Given the description of an element on the screen output the (x, y) to click on. 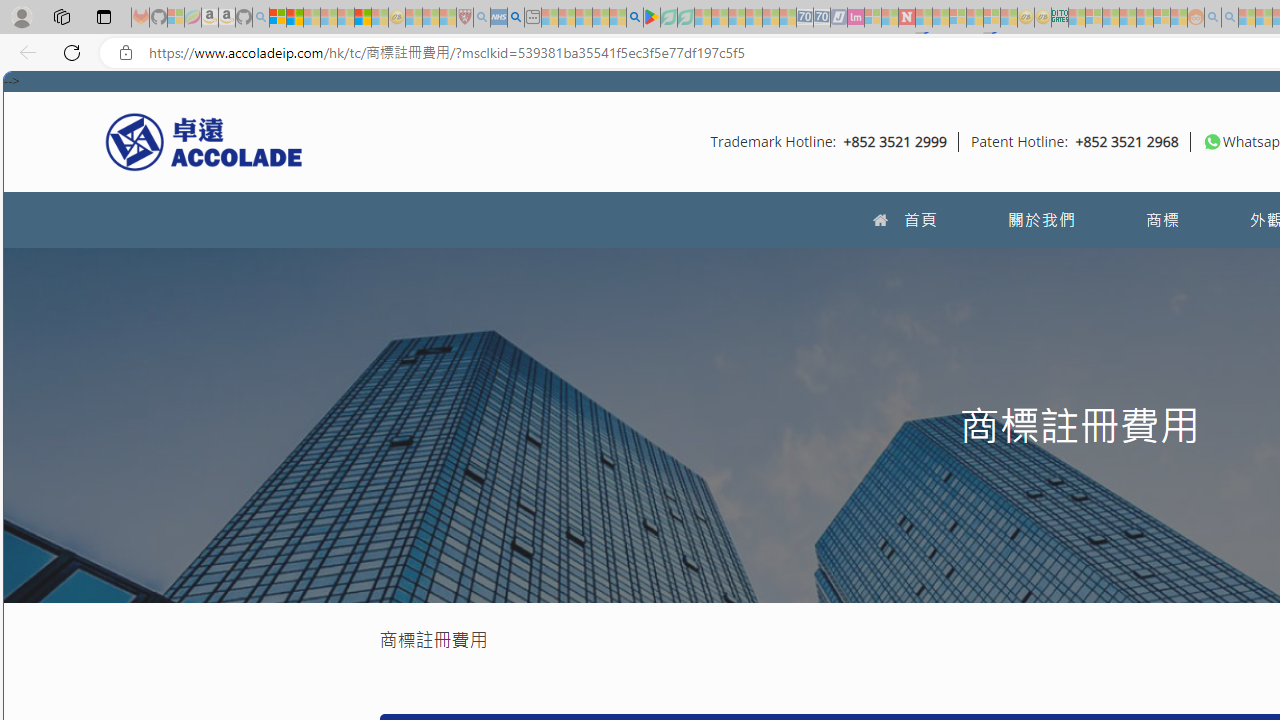
Robert H. Shmerling, MD - Harvard Health - Sleeping (465, 17)
Recipes - MSN - Sleeping (413, 17)
Kinda Frugal - MSN - Sleeping (1144, 17)
Pets - MSN - Sleeping (600, 17)
14 Common Myths Debunked By Scientific Facts - Sleeping (940, 17)
Local - MSN - Sleeping (447, 17)
Microsoft account | Privacy - Sleeping (1093, 17)
